Given the description of an element on the screen output the (x, y) to click on. 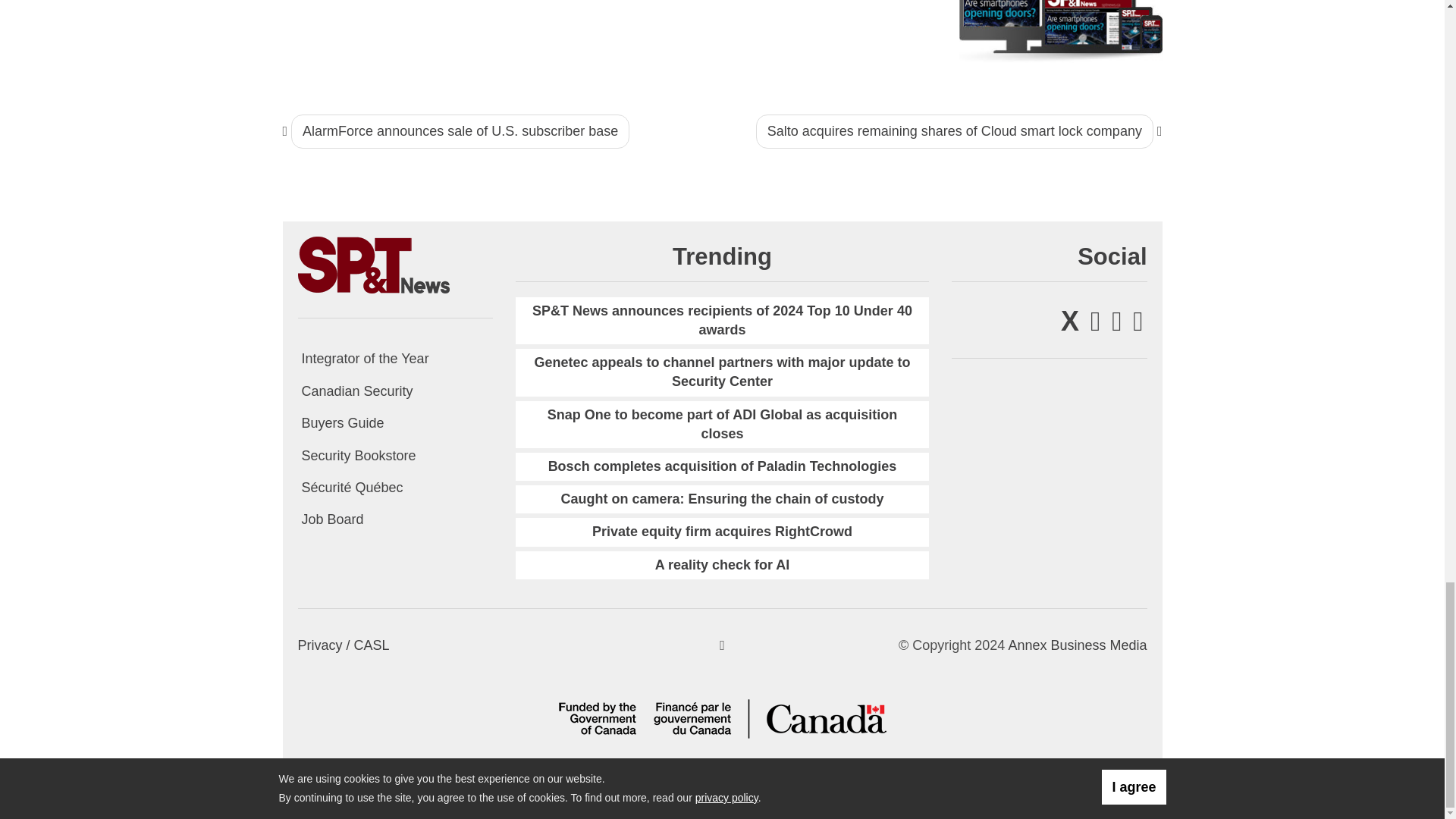
scroll to top (722, 645)
Annex Business Media (1077, 645)
